Given the description of an element on the screen output the (x, y) to click on. 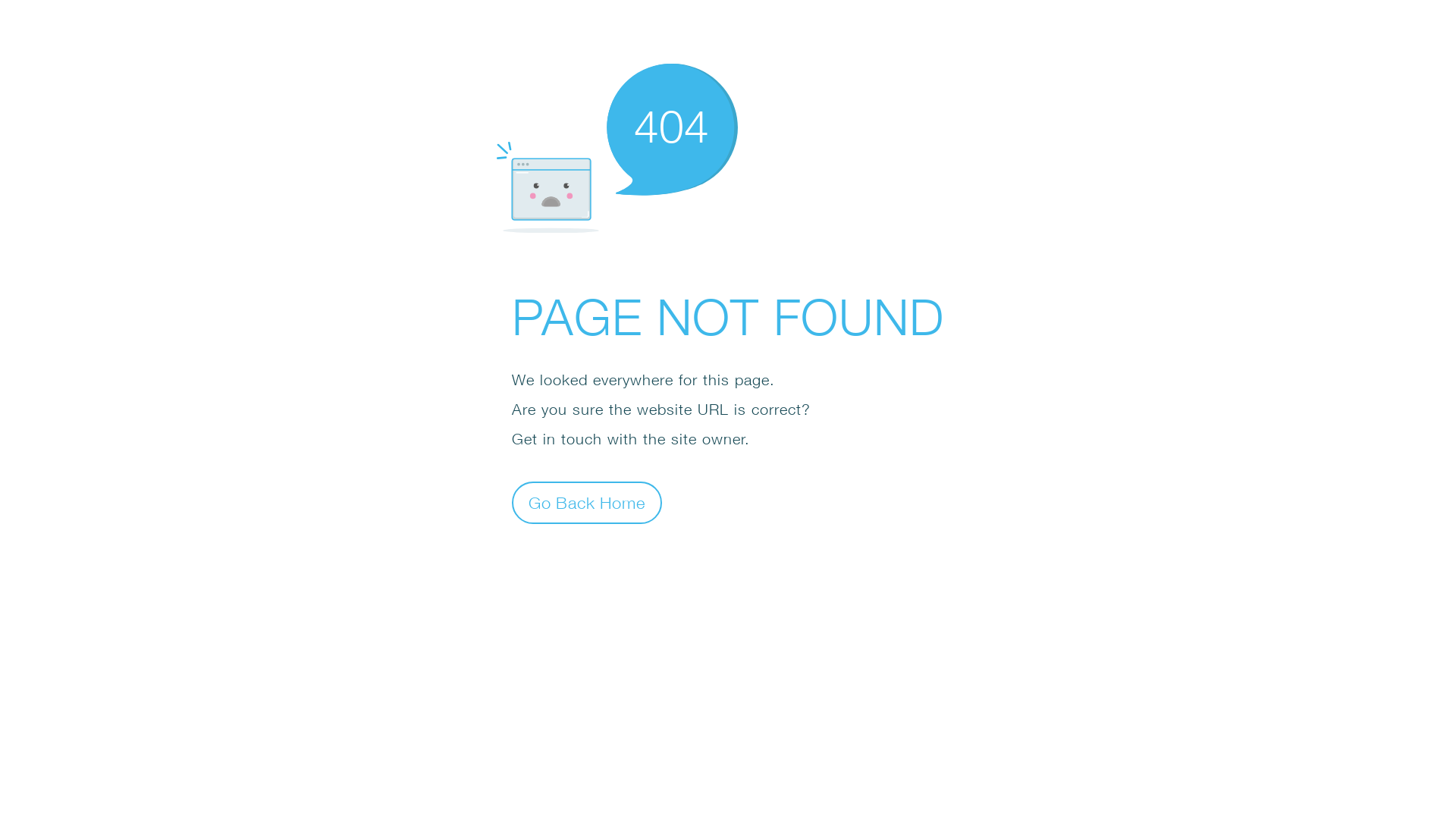
Go Back Home Element type: text (586, 502)
